Given the description of an element on the screen output the (x, y) to click on. 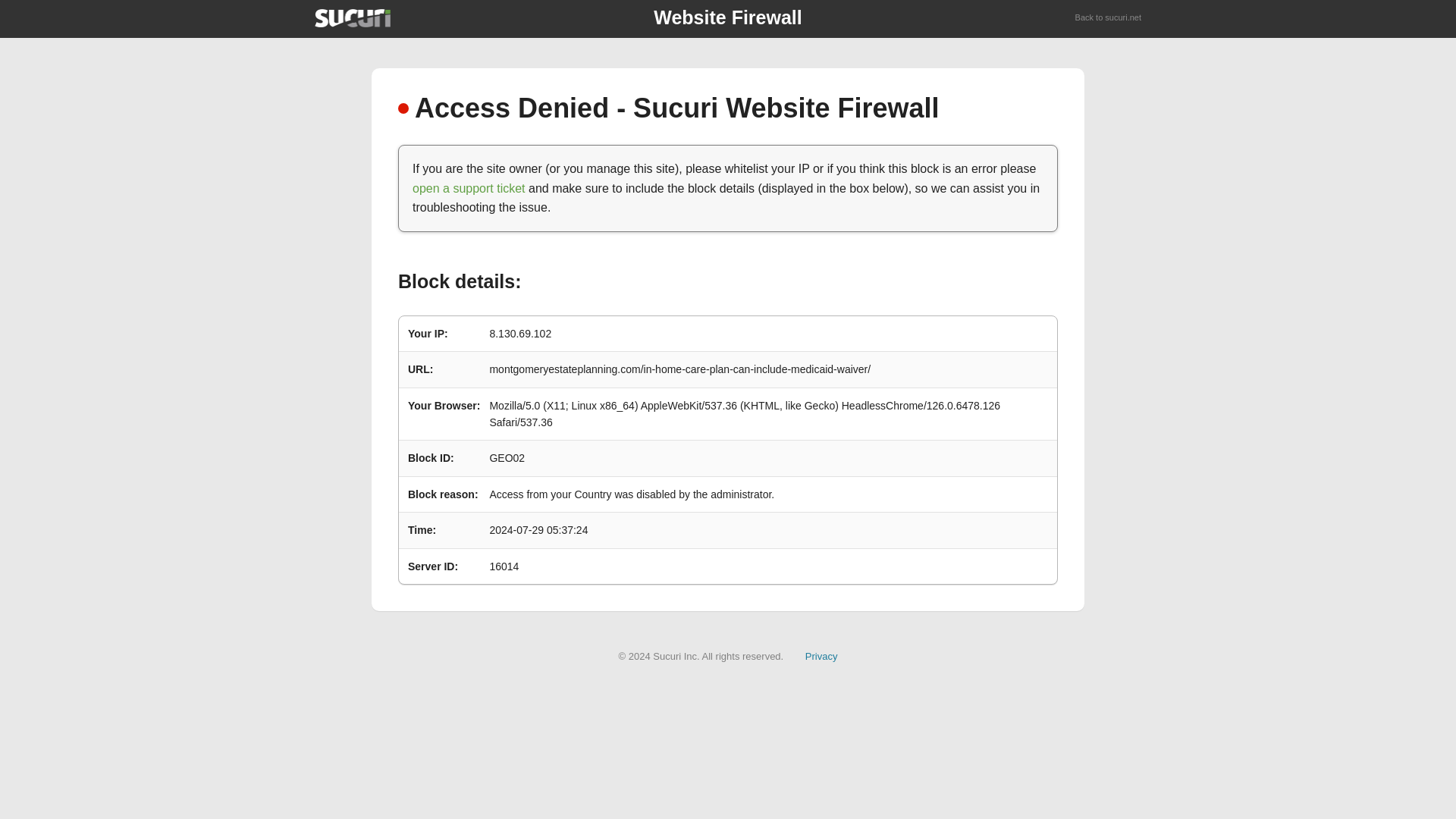
Privacy (821, 655)
open a support ticket (468, 187)
Back to sucuri.net (1108, 18)
